Given the description of an element on the screen output the (x, y) to click on. 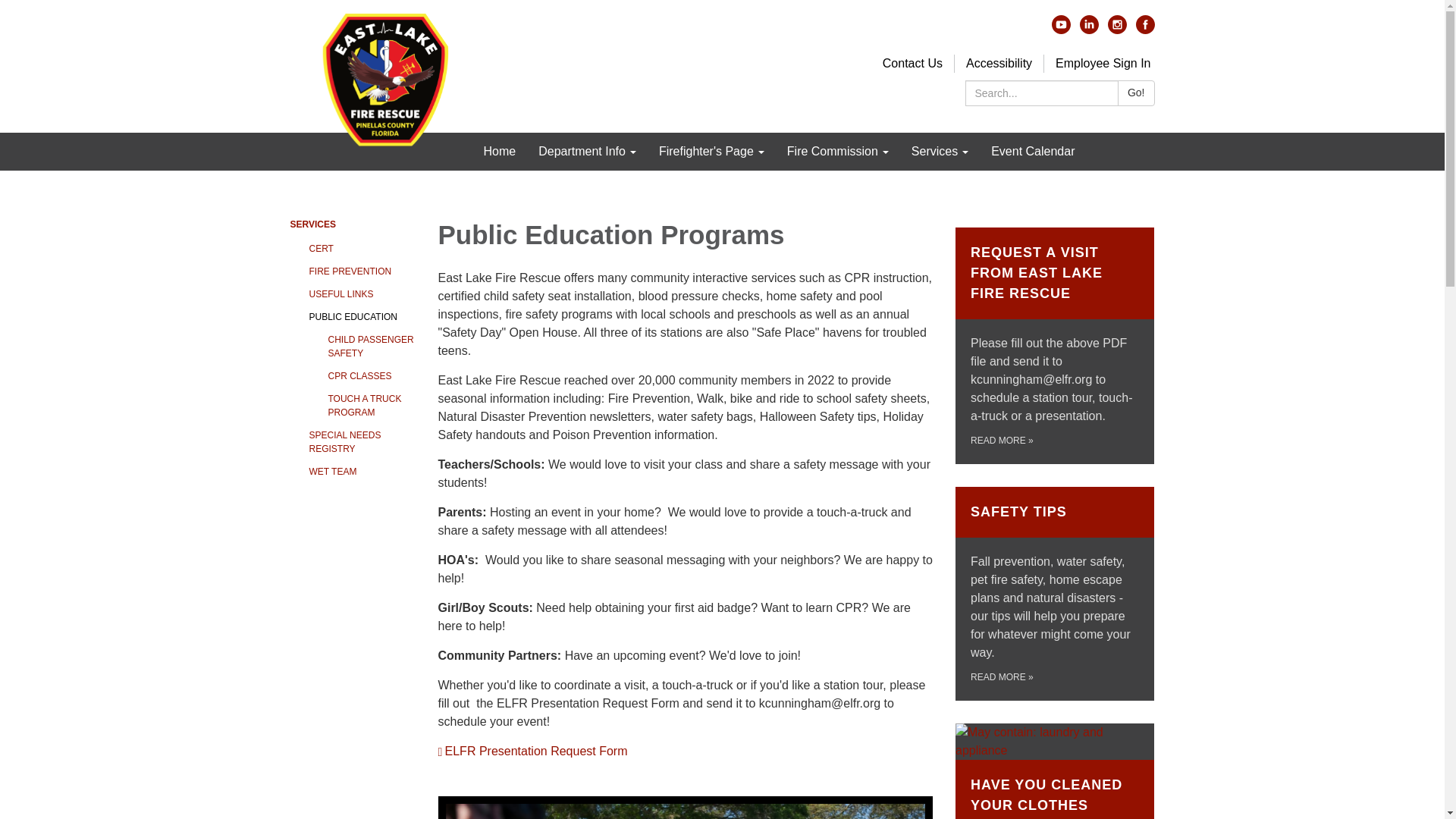
Home (499, 151)
Fire Commission (837, 151)
Firefighter's Page (711, 151)
Department Info (587, 151)
Go! (1136, 93)
Contact Us (911, 62)
Services (939, 151)
Accessibility (999, 62)
Employee Sign In (1102, 62)
